Given the description of an element on the screen output the (x, y) to click on. 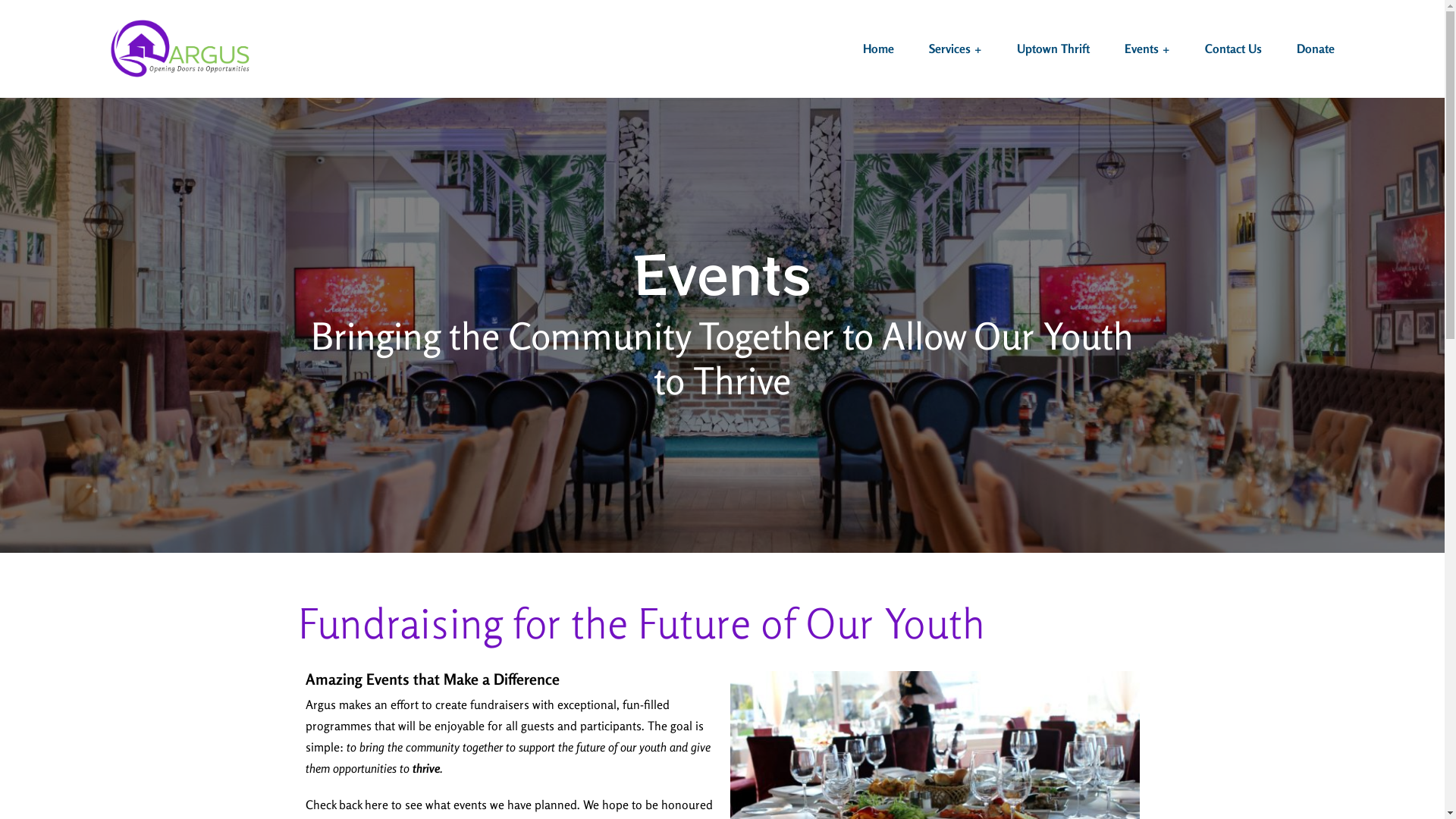
Home Element type: text (878, 48)
Events Element type: text (1147, 48)
Contact Us Element type: text (1232, 48)
Services Element type: text (955, 48)
Uptown Thrift Element type: text (1052, 48)
Donate Element type: text (1315, 48)
